Given the description of an element on the screen output the (x, y) to click on. 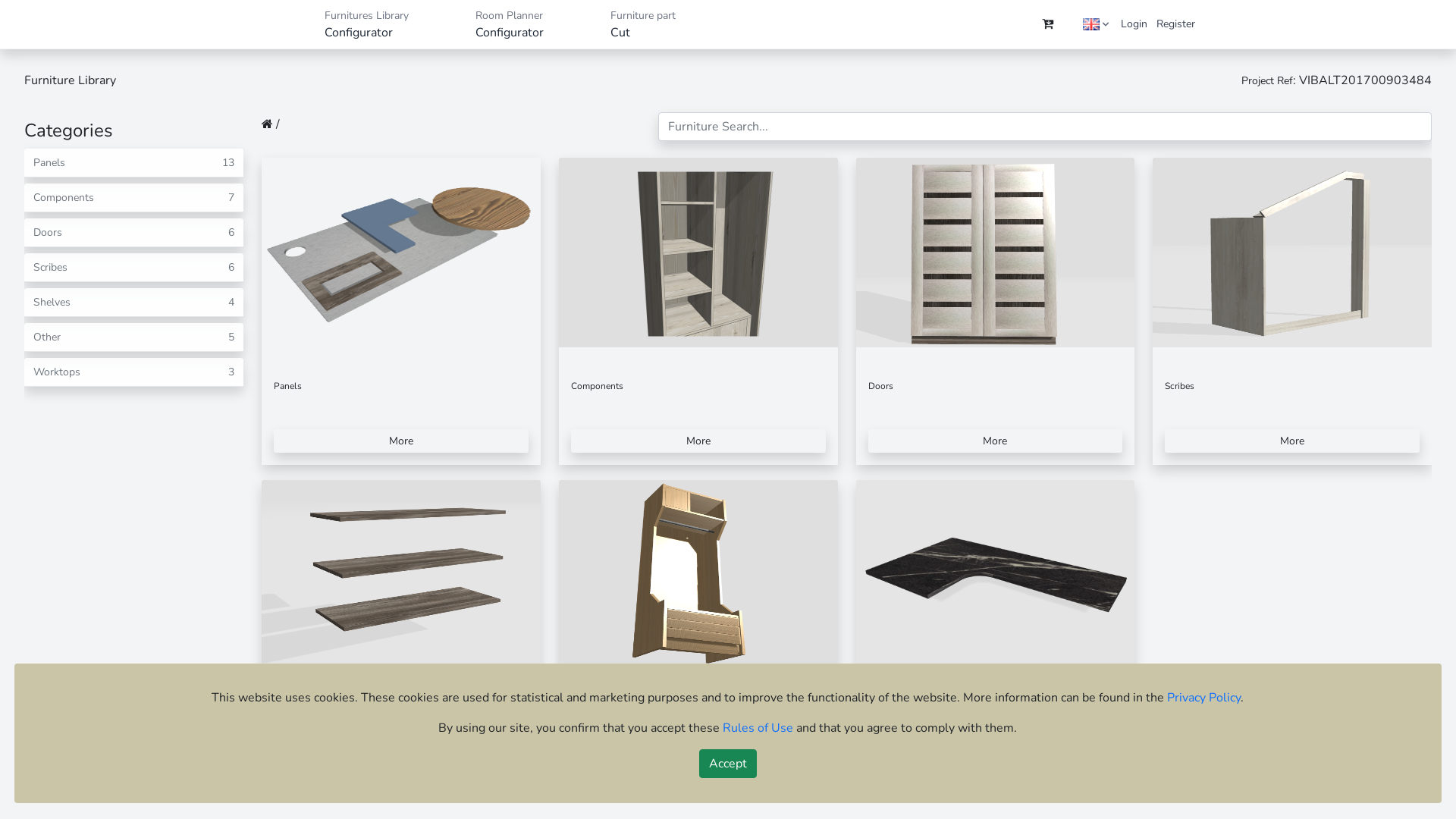
Scribes
6 Element type: text (133, 267)
More Element type: text (400, 763)
More Element type: text (698, 440)
Doors
6 Element type: text (133, 232)
Components
7 Element type: text (133, 197)
Worktops
3 Element type: text (133, 371)
Login Element type: text (1133, 23)
More Element type: text (1291, 440)
Other
5 Element type: text (133, 337)
More Element type: text (995, 763)
Rules of Use Element type: text (757, 727)
Ref: VIBALT201700903484 Element type: hover (1045, 23)
Shelves
4 Element type: text (133, 302)
More Element type: text (698, 763)
Register Element type: text (1175, 23)
More Element type: text (400, 440)
English Element type: hover (1090, 24)
More Element type: text (995, 440)
Panels
13 Element type: text (133, 162)
Accept Element type: text (727, 763)
Privacy Policy Element type: text (1203, 697)
